Given the description of an element on the screen output the (x, y) to click on. 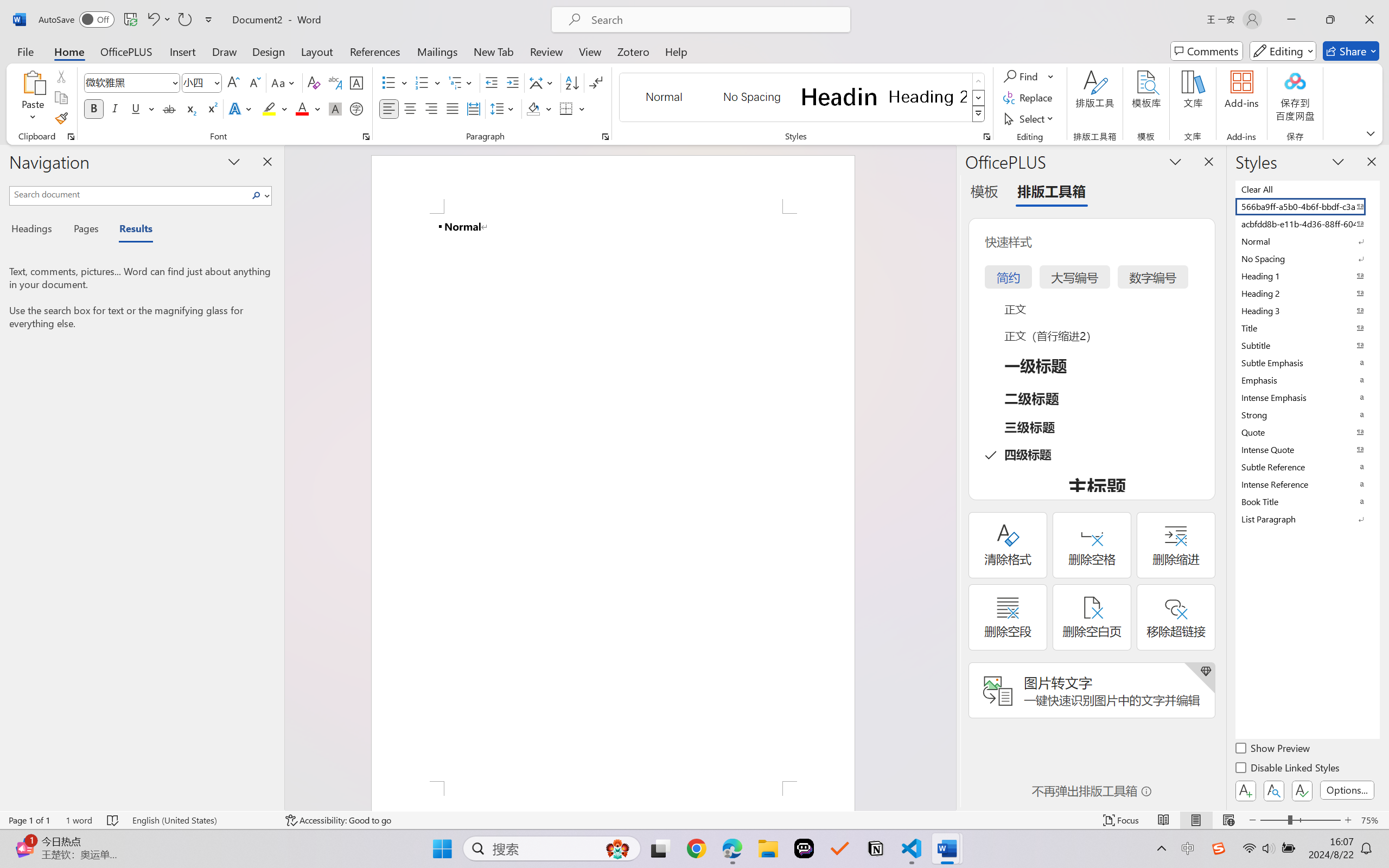
Replace... (1029, 97)
Pages (85, 229)
Font (126, 82)
Center (409, 108)
Intense Emphasis (1306, 397)
Styles... (986, 136)
Emphasis (1306, 379)
Headings (35, 229)
Underline (142, 108)
Book Title (1306, 501)
Font Color (308, 108)
